Given the description of an element on the screen output the (x, y) to click on. 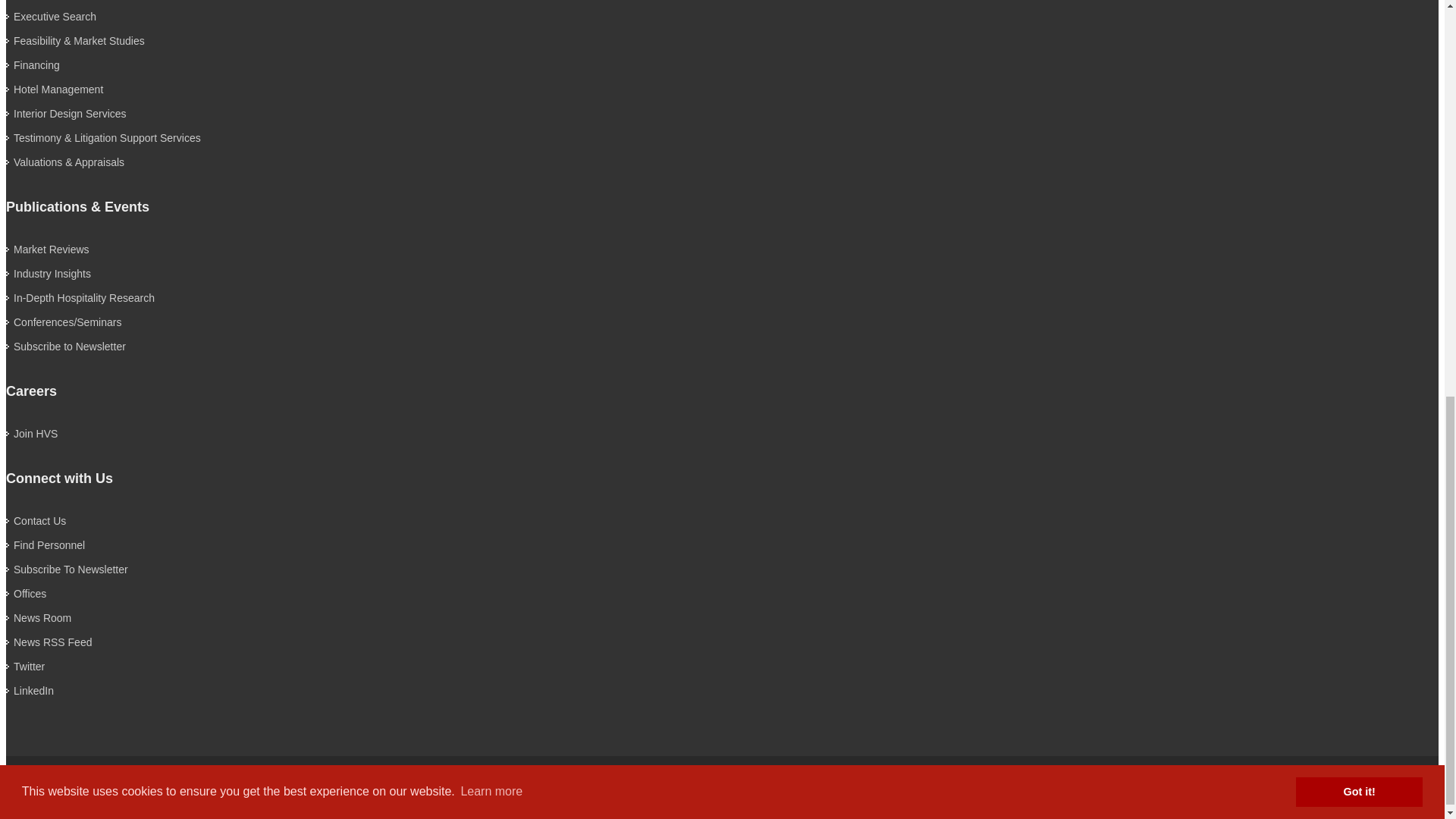
Got it! (1358, 17)
Learn more (491, 16)
